Given the description of an element on the screen output the (x, y) to click on. 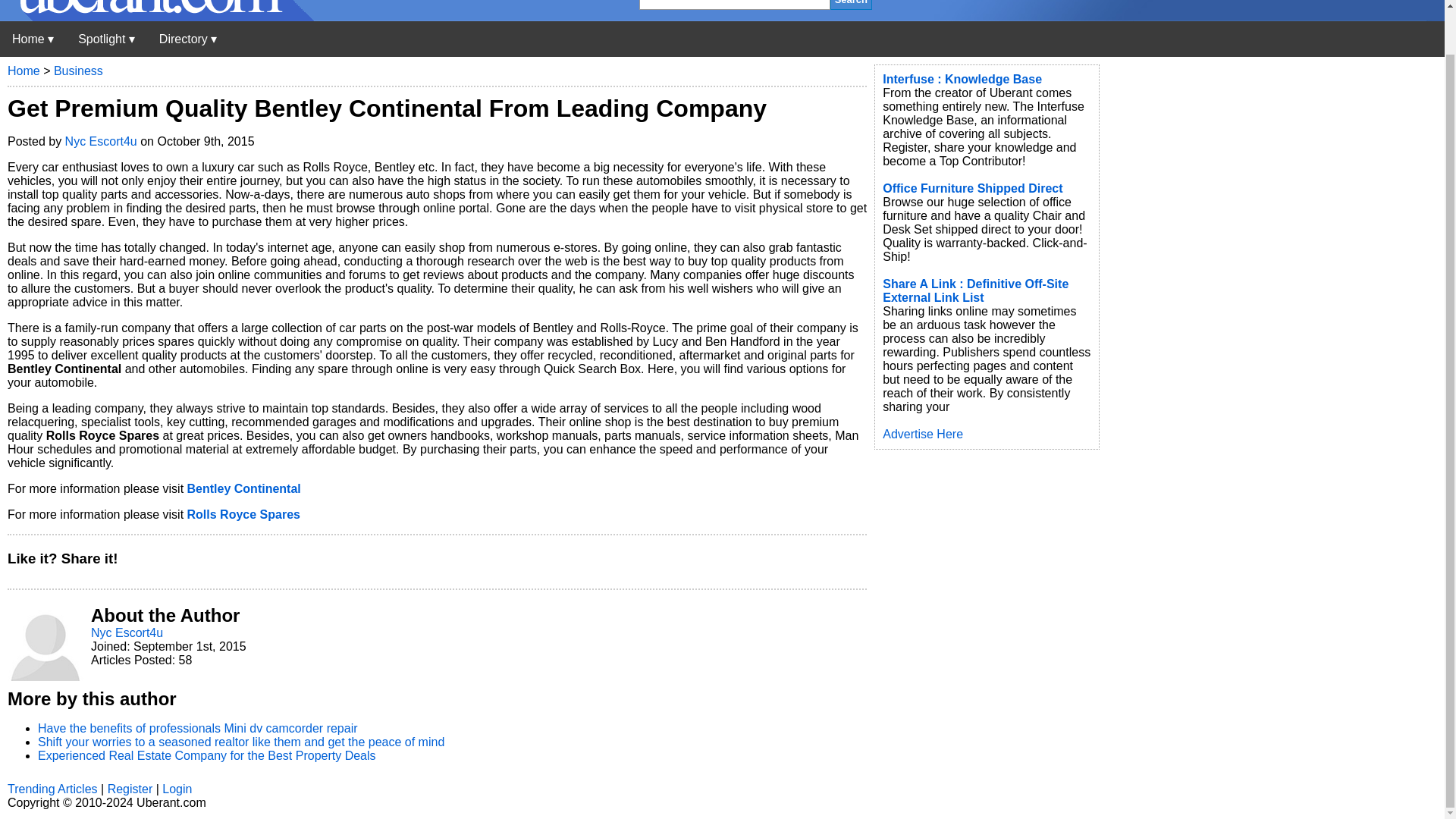
Uberant (32, 38)
Search (850, 4)
Uberant (157, 16)
Search (850, 4)
